Given the description of an element on the screen output the (x, y) to click on. 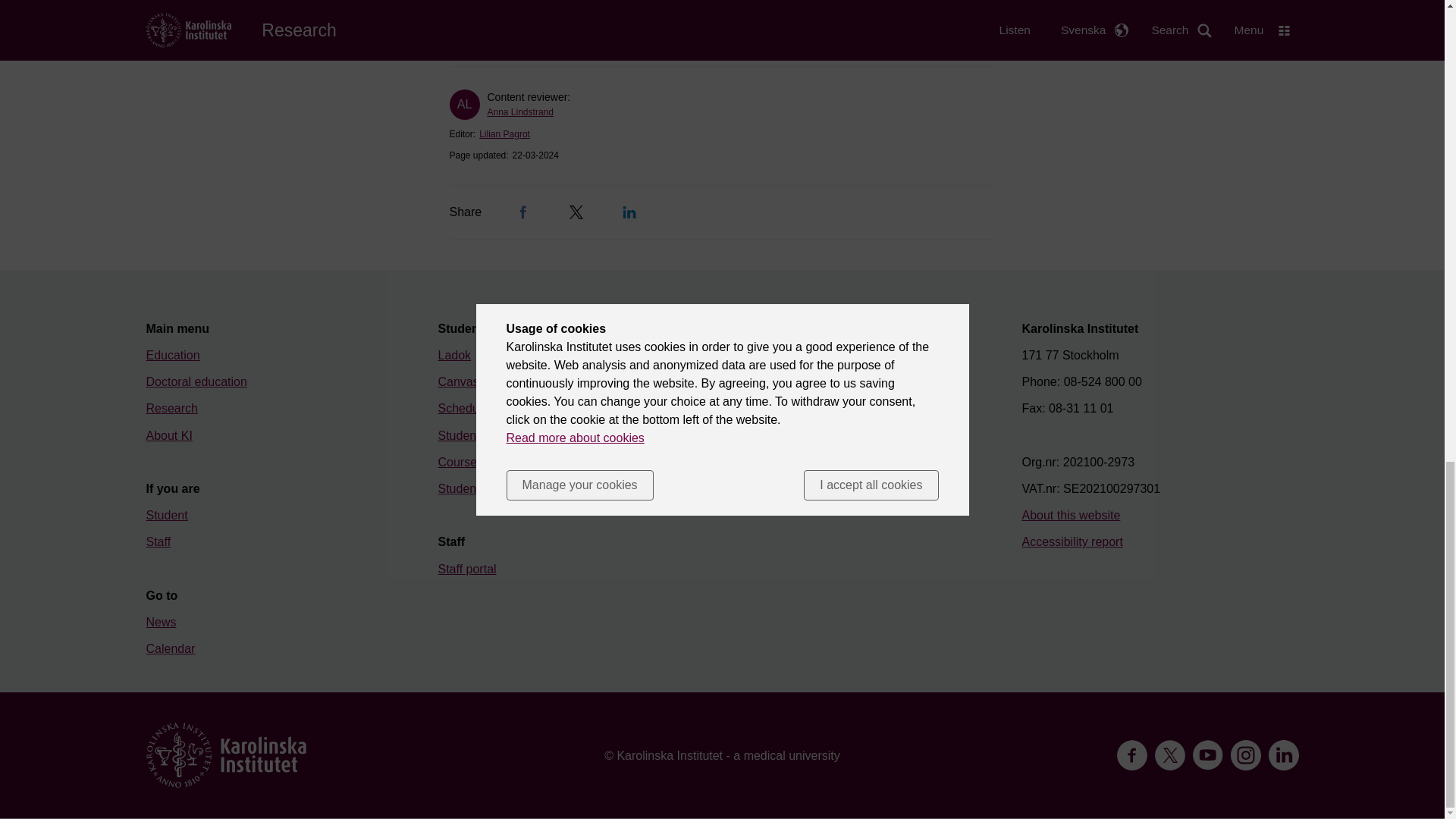
News (160, 621)
LinkedIn (629, 212)
Ladok (454, 354)
Home (225, 754)
Lilian Pagrot (504, 133)
Staff (157, 541)
Canvas (458, 381)
Education (172, 354)
Facebook (523, 212)
About KI (168, 435)
Calendar (170, 648)
Research (170, 408)
Course and programme websites (527, 461)
Schedule (463, 408)
Student e-mail (477, 435)
